Given the description of an element on the screen output the (x, y) to click on. 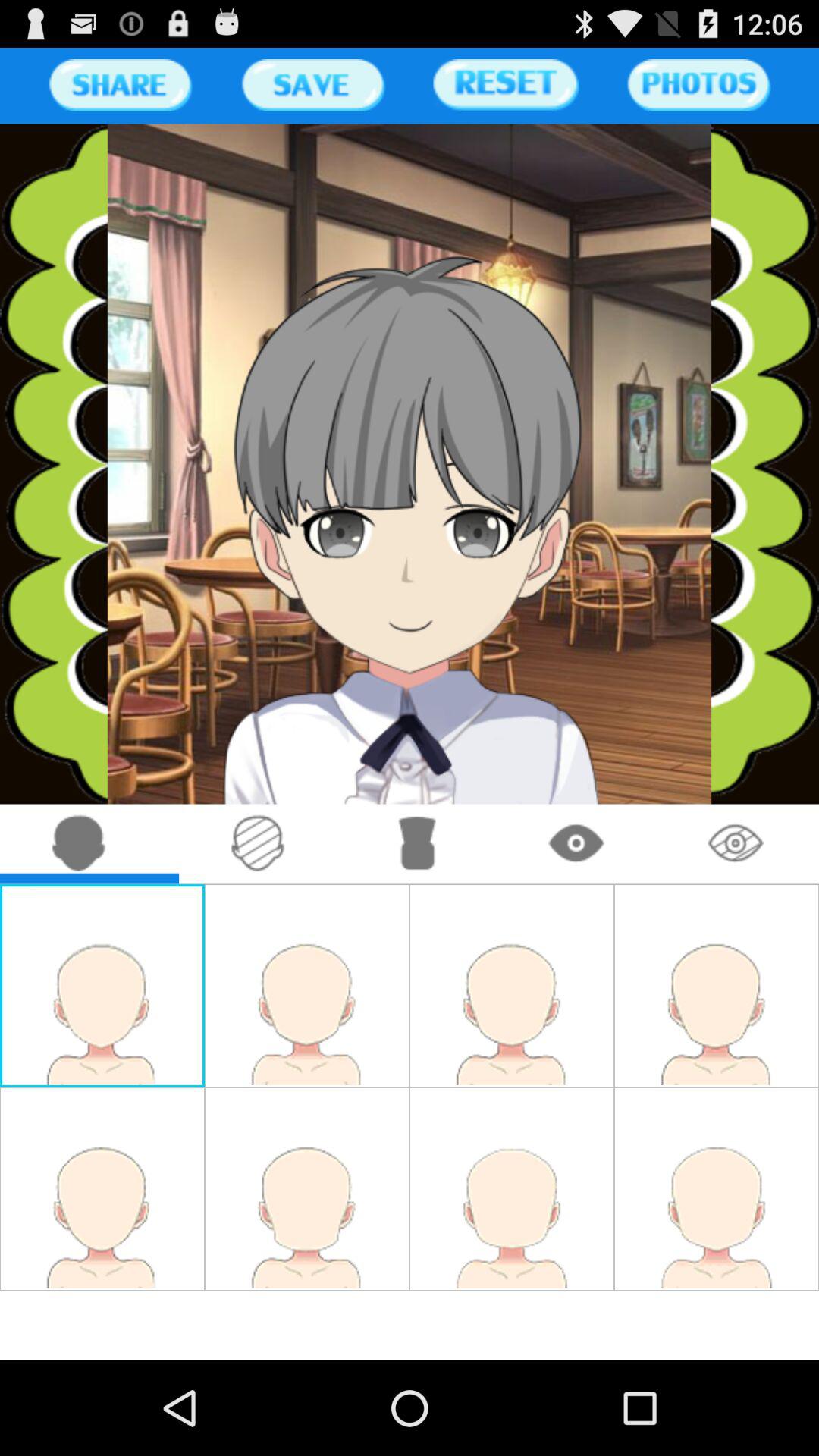
save button (312, 85)
